Given the description of an element on the screen output the (x, y) to click on. 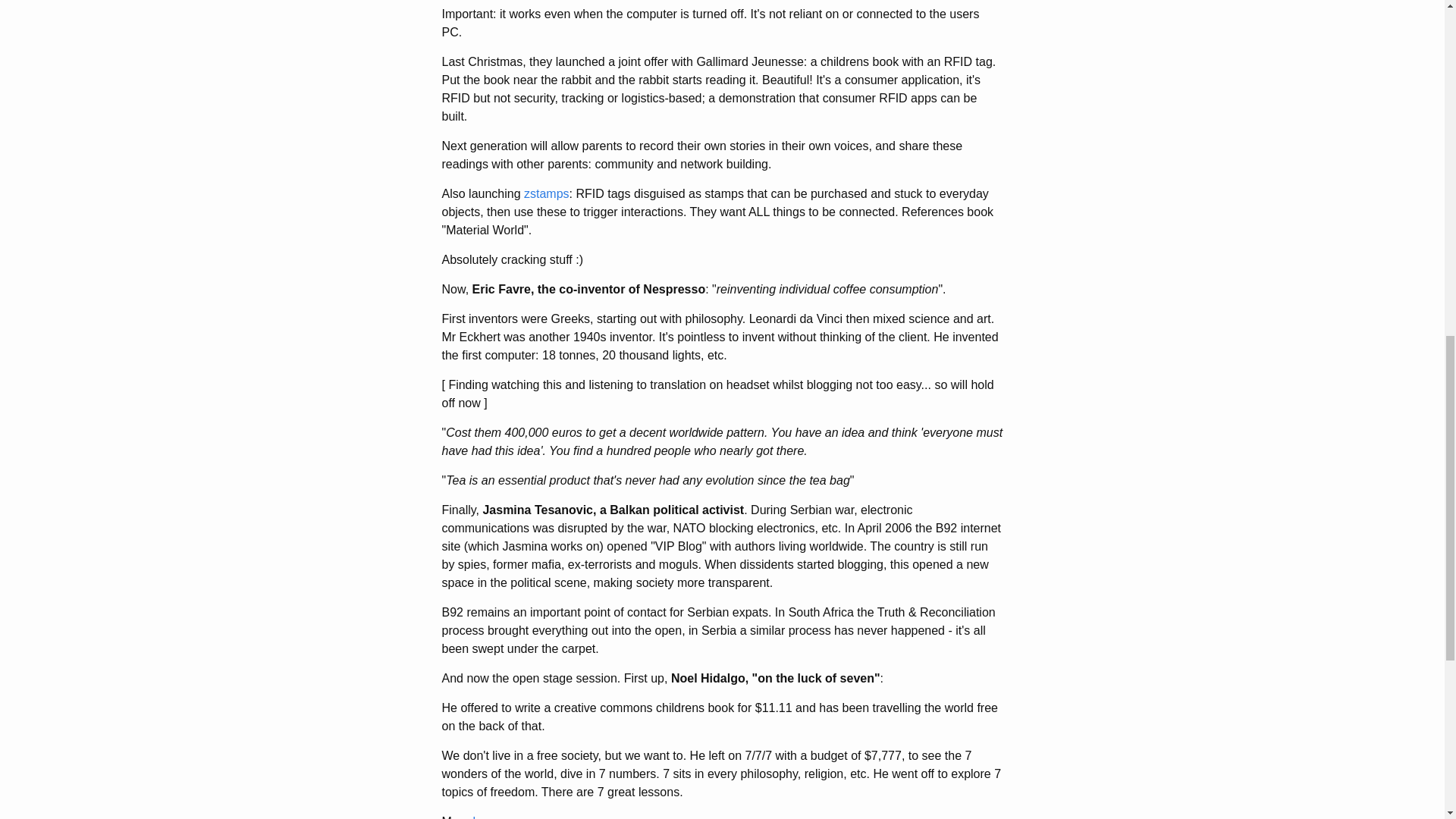
here (483, 816)
zstamps (546, 193)
